Given the description of an element on the screen output the (x, y) to click on. 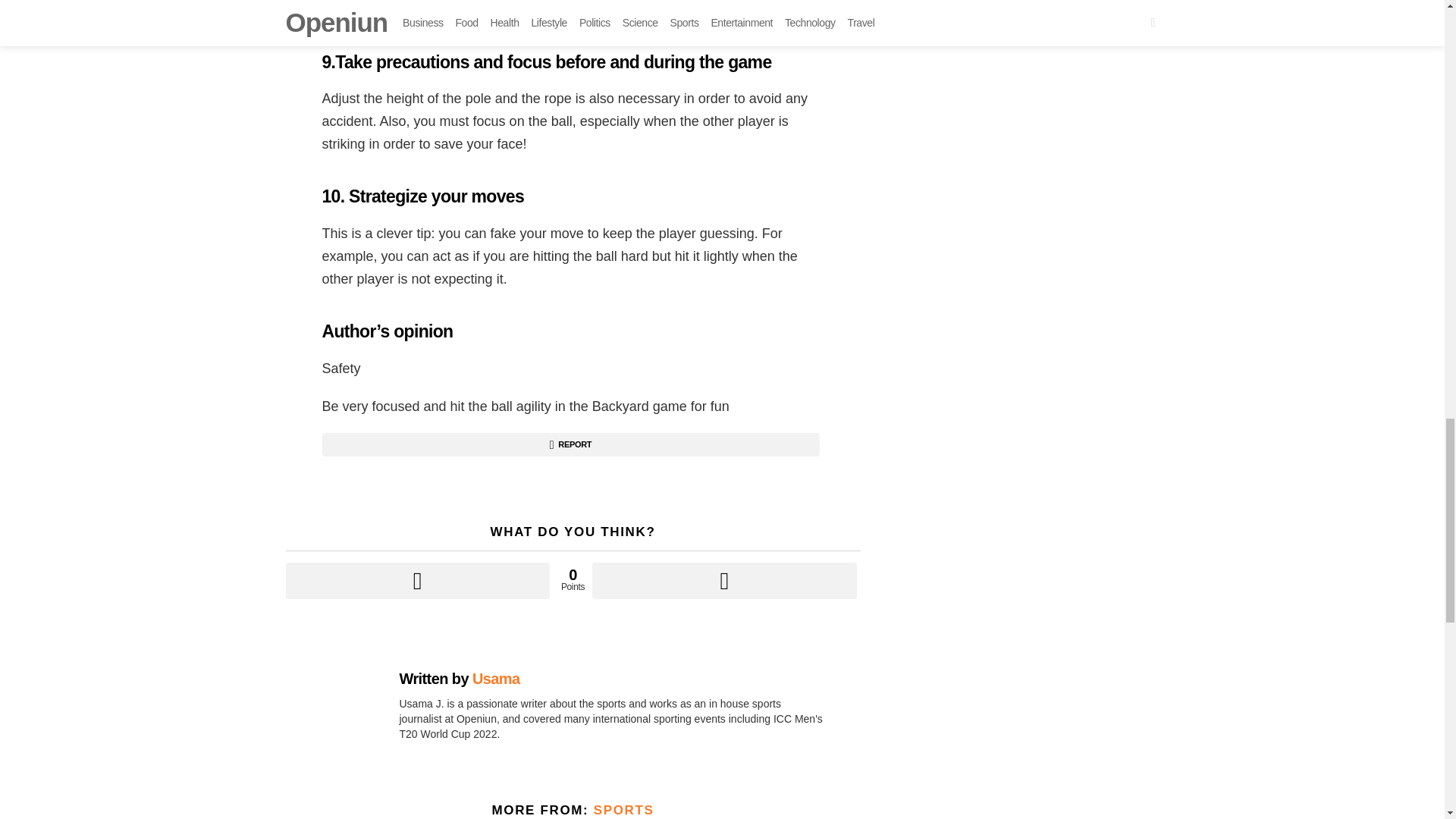
Upvote (416, 580)
Downvote (724, 580)
SPORTS (623, 810)
Downvote (724, 580)
Usama (495, 678)
REPORT (569, 444)
Upvote (416, 580)
